Given the description of an element on the screen output the (x, y) to click on. 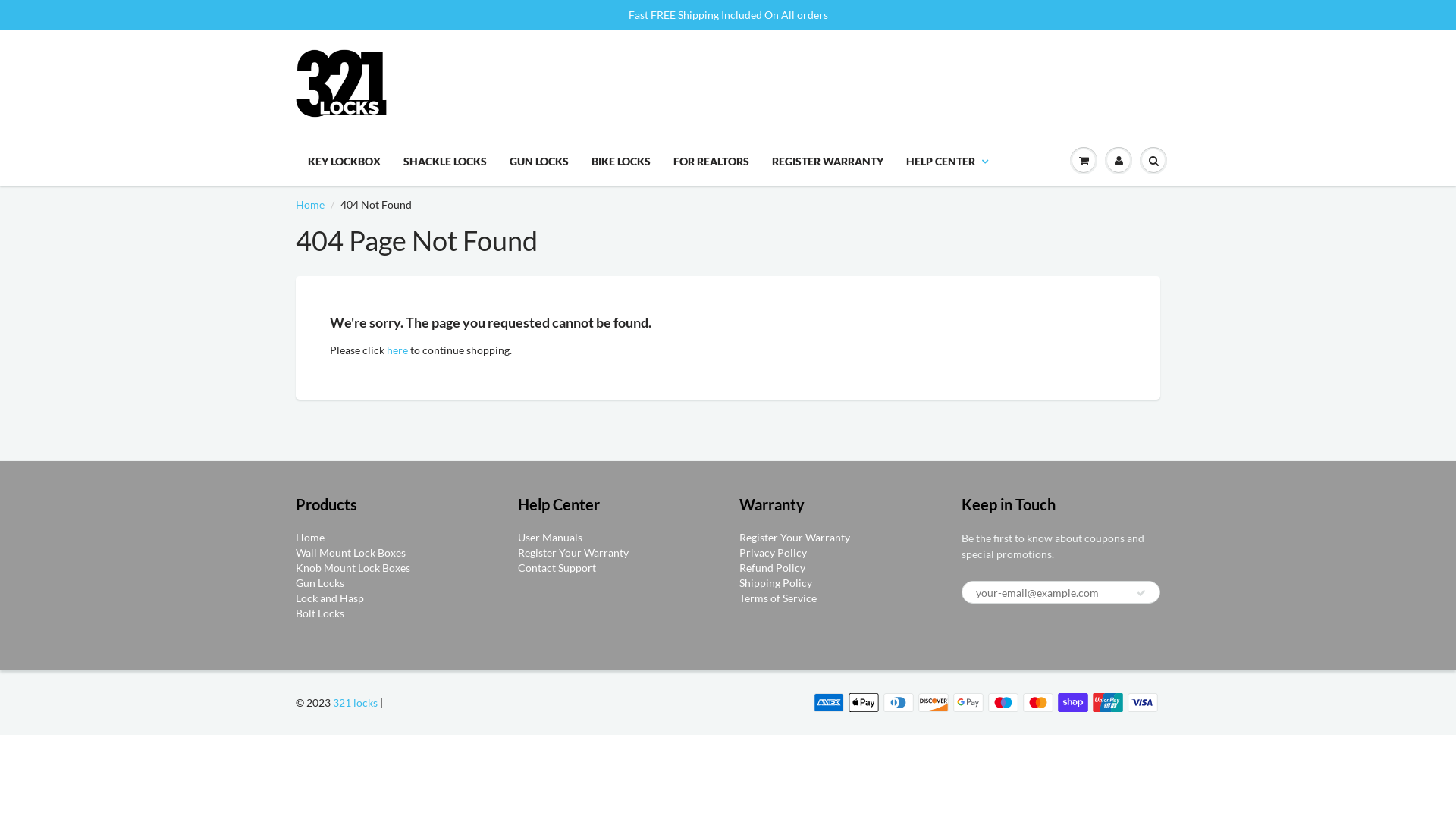
Privacy Policy Element type: text (772, 552)
SHACKLE LOCKS Element type: text (445, 161)
Register Your Warranty Element type: text (794, 536)
Subscribe Element type: text (1140, 592)
Wall Mount Lock Boxes Element type: text (350, 552)
Register Your Warranty Element type: text (572, 552)
BIKE LOCKS Element type: text (621, 161)
here Element type: text (396, 349)
Terms of Service Element type: text (777, 597)
GUN LOCKS Element type: text (539, 161)
321 locks Element type: text (354, 702)
Shipping Policy Element type: text (775, 582)
HELP CENTER Element type: text (946, 161)
FOR REALTORS Element type: text (711, 161)
Knob Mount Lock Boxes Element type: text (352, 567)
User Manuals Element type: text (549, 536)
Bolt Locks Element type: text (319, 612)
Home Element type: text (309, 536)
Contact Support Element type: text (556, 567)
KEY LOCKBOX Element type: text (344, 161)
Refund Policy Element type: text (772, 567)
Lock and Hasp Element type: text (329, 597)
REGISTER WARRANTY Element type: text (827, 161)
Home Element type: text (309, 203)
Gun Locks Element type: text (319, 582)
